Given the description of an element on the screen output the (x, y) to click on. 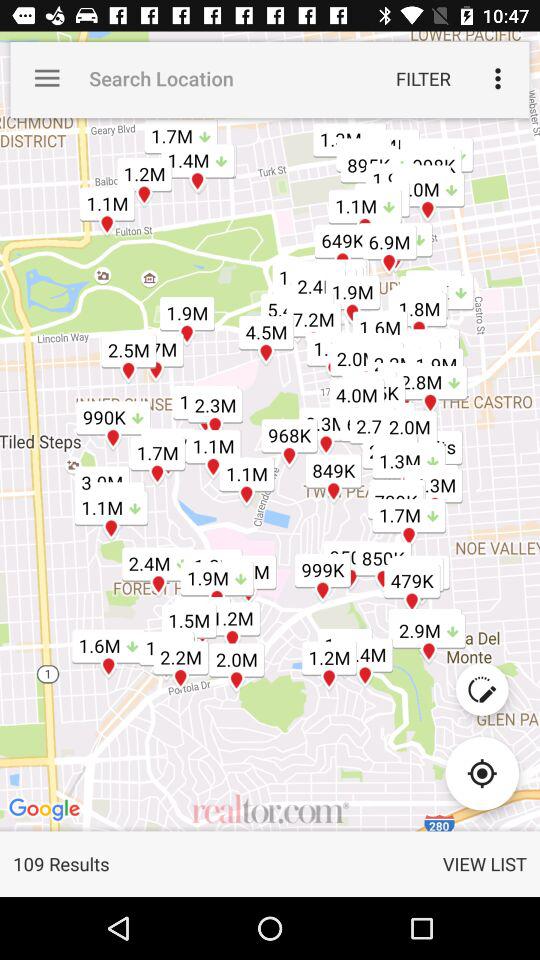
choose the item above the view list icon (482, 773)
